Given the description of an element on the screen output the (x, y) to click on. 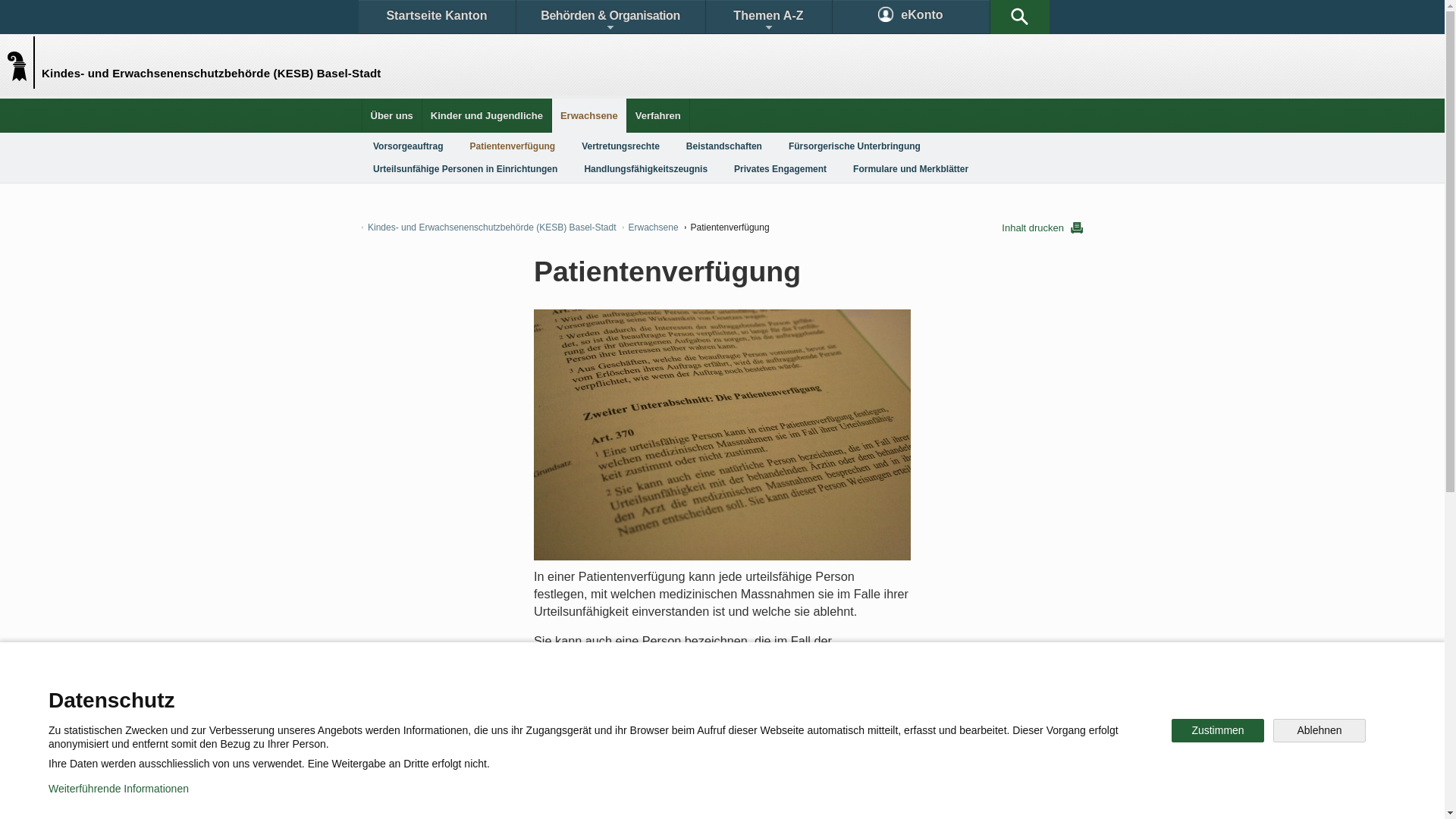
Facebook Element type: text (547, 746)
Kinder und Jugendliche Element type: text (486, 115)
Kontakt Element type: text (406, 693)
Zustimmen Element type: text (1217, 730)
Zur mobilen Ansicht Element type: text (752, 796)
Statistiken Element type: text (687, 693)
Bild & Multimedia Element type: text (908, 693)
Vorsorgeauftrag Element type: text (407, 145)
Nutzungsregelungen Element type: text (542, 796)
Inhalt drucken Element type: text (1041, 227)
Gesetze Element type: text (597, 693)
Verfahren Element type: text (658, 115)
Themen A-Z Element type: text (768, 17)
eKonto Element type: text (910, 17)
Impressum Element type: text (648, 796)
Beistandschaften Element type: text (723, 145)
Startseite Kanton Element type: text (435, 17)
Stadtplan & Karte Element type: text (504, 693)
Privates Engagement Element type: text (779, 168)
Instagram Element type: text (738, 746)
Twitter Element type: text (642, 746)
Ablehnen Element type: text (1319, 730)
Erwachsene Element type: text (589, 115)
Vertretungsrechte Element type: text (620, 145)
Erwachsene Element type: text (650, 227)
Publikationen Element type: text (795, 693)
